Given the description of an element on the screen output the (x, y) to click on. 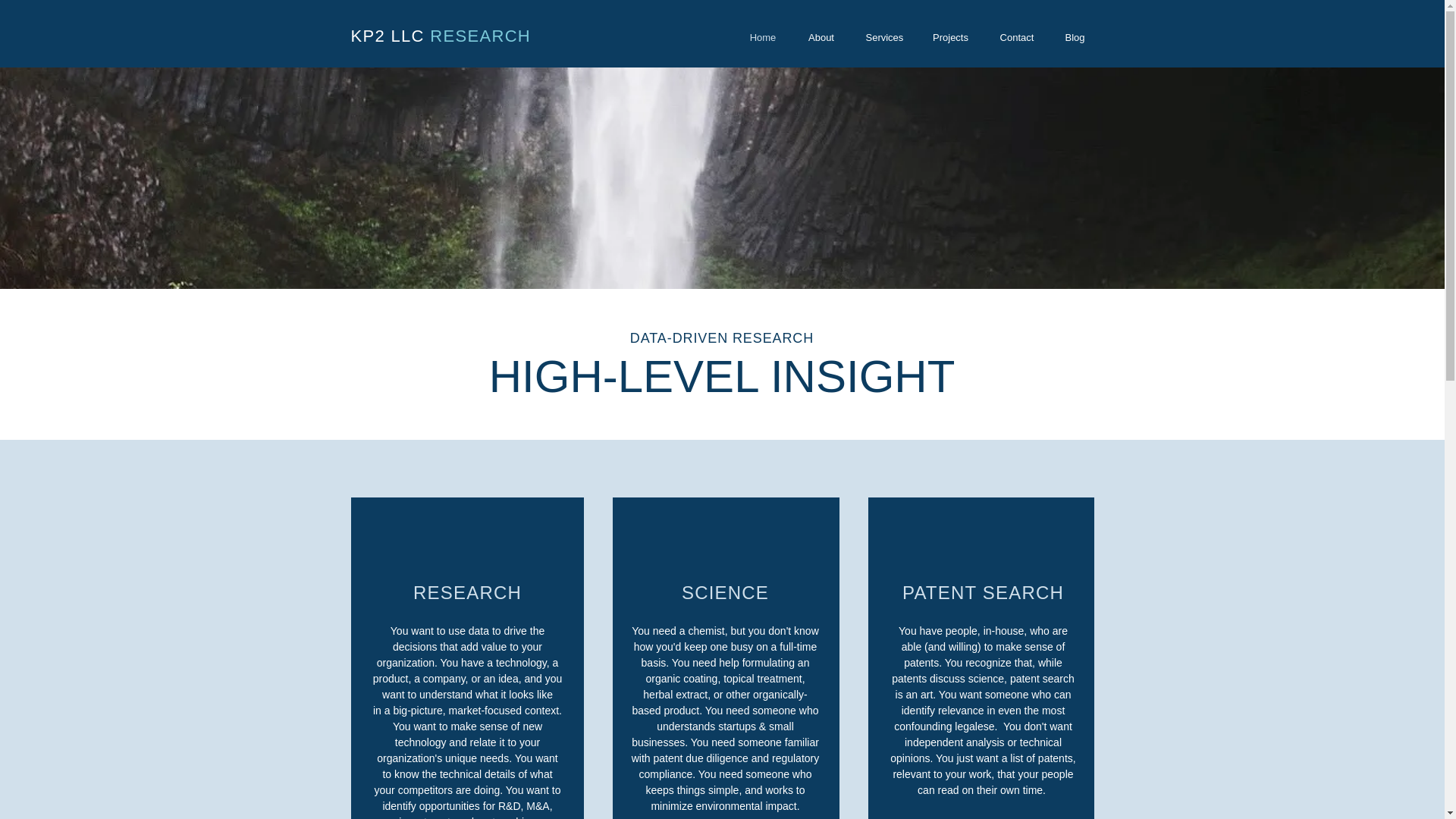
KP2 LLC RESEARCH (440, 35)
About (821, 36)
Blog (1074, 36)
Contact (1016, 36)
Projects (950, 36)
Services (883, 36)
Home (762, 36)
